Given the description of an element on the screen output the (x, y) to click on. 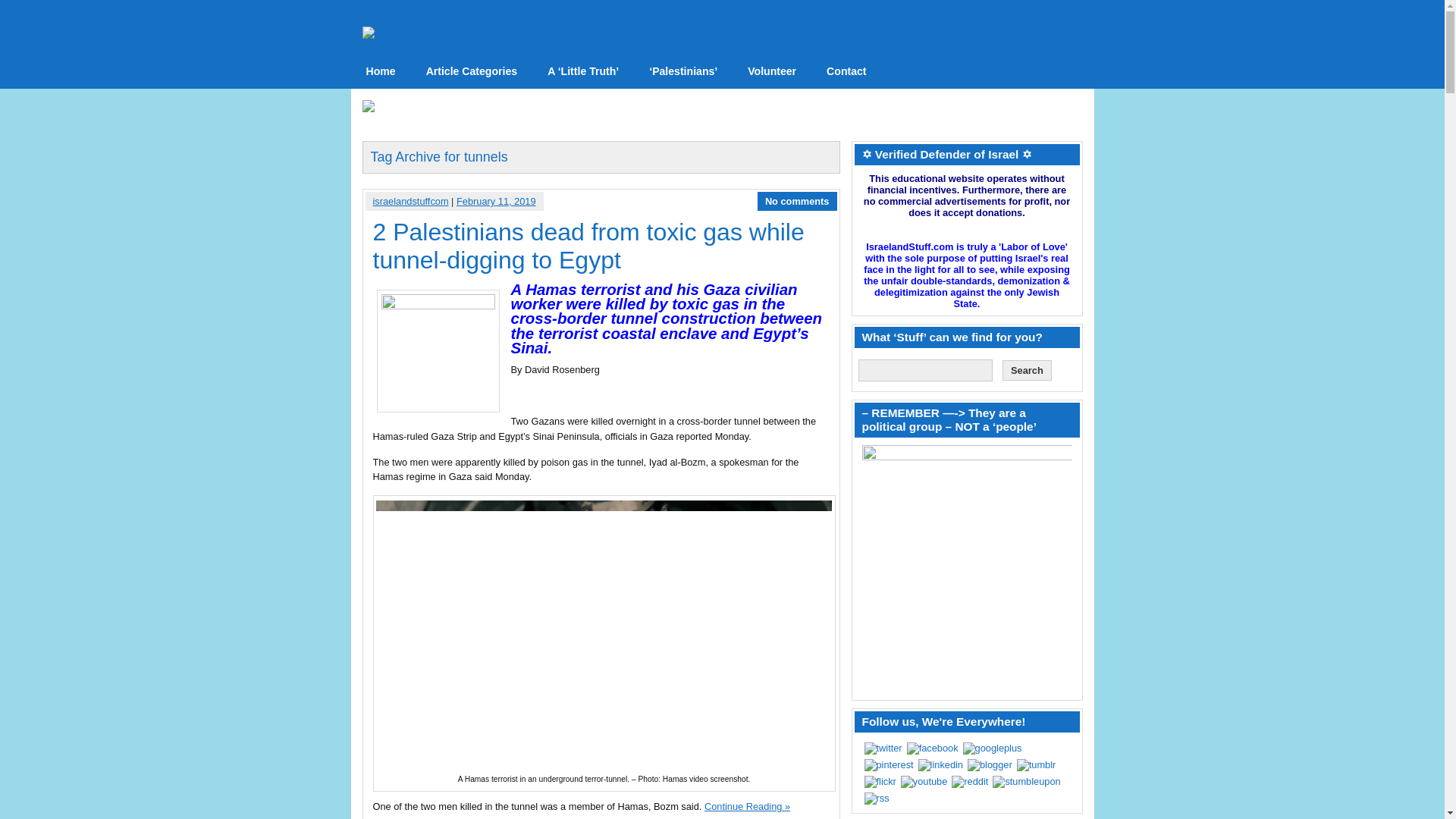
Article Categories (471, 71)
No comments (797, 201)
Search (1027, 370)
Posts by israelandstuffcom (410, 201)
Contact (845, 71)
Volunteer (771, 71)
news (380, 71)
Home (380, 71)
February 11, 2019 (496, 201)
